Given the description of an element on the screen output the (x, y) to click on. 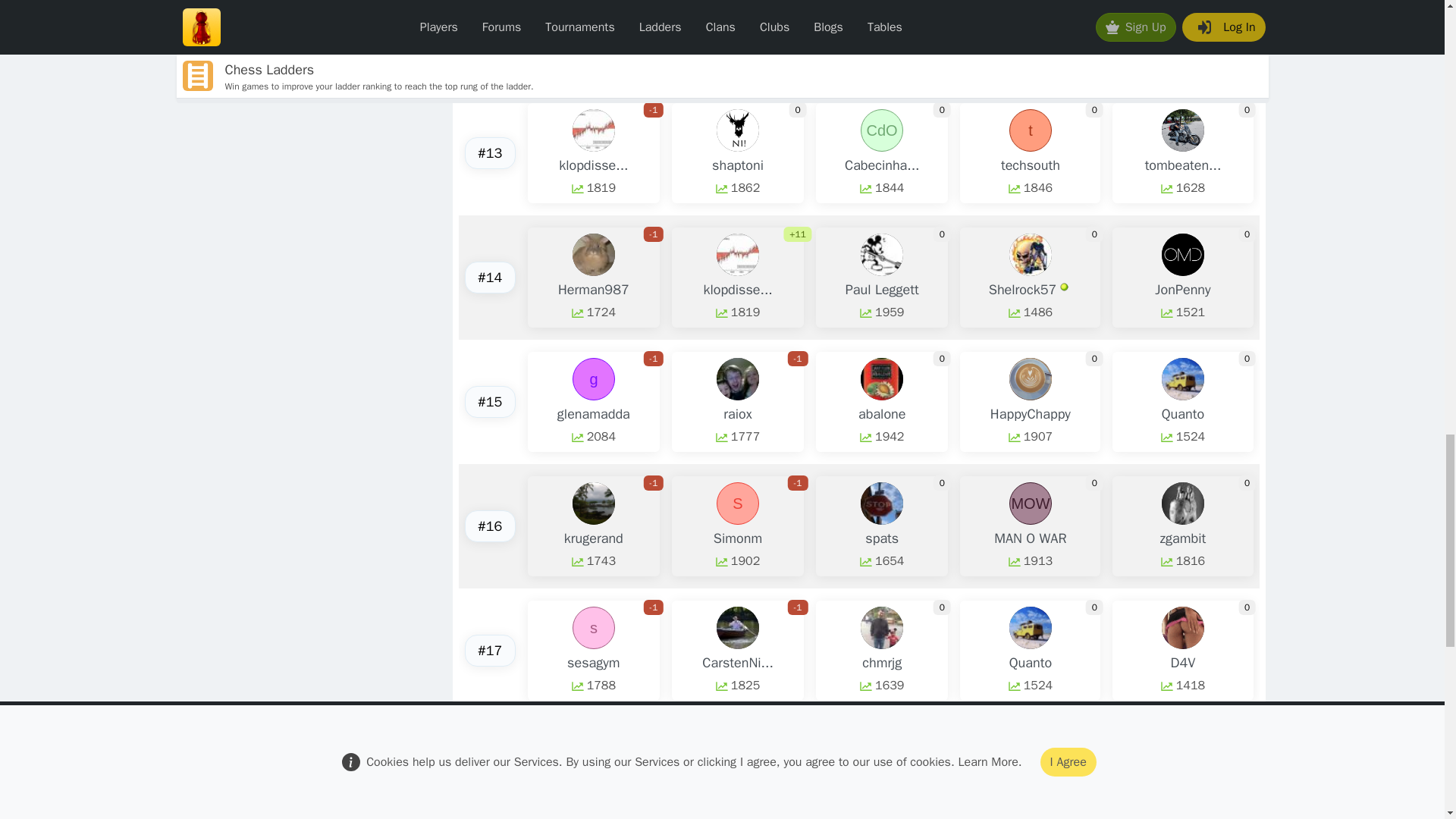
t (1030, 129)
s (737, 13)
G (1182, 13)
Playing chess 18 seconds ago (1216, 784)
h (881, 13)
Playing chess 18 seconds ago (1063, 286)
CdO (881, 129)
